Given the description of an element on the screen output the (x, y) to click on. 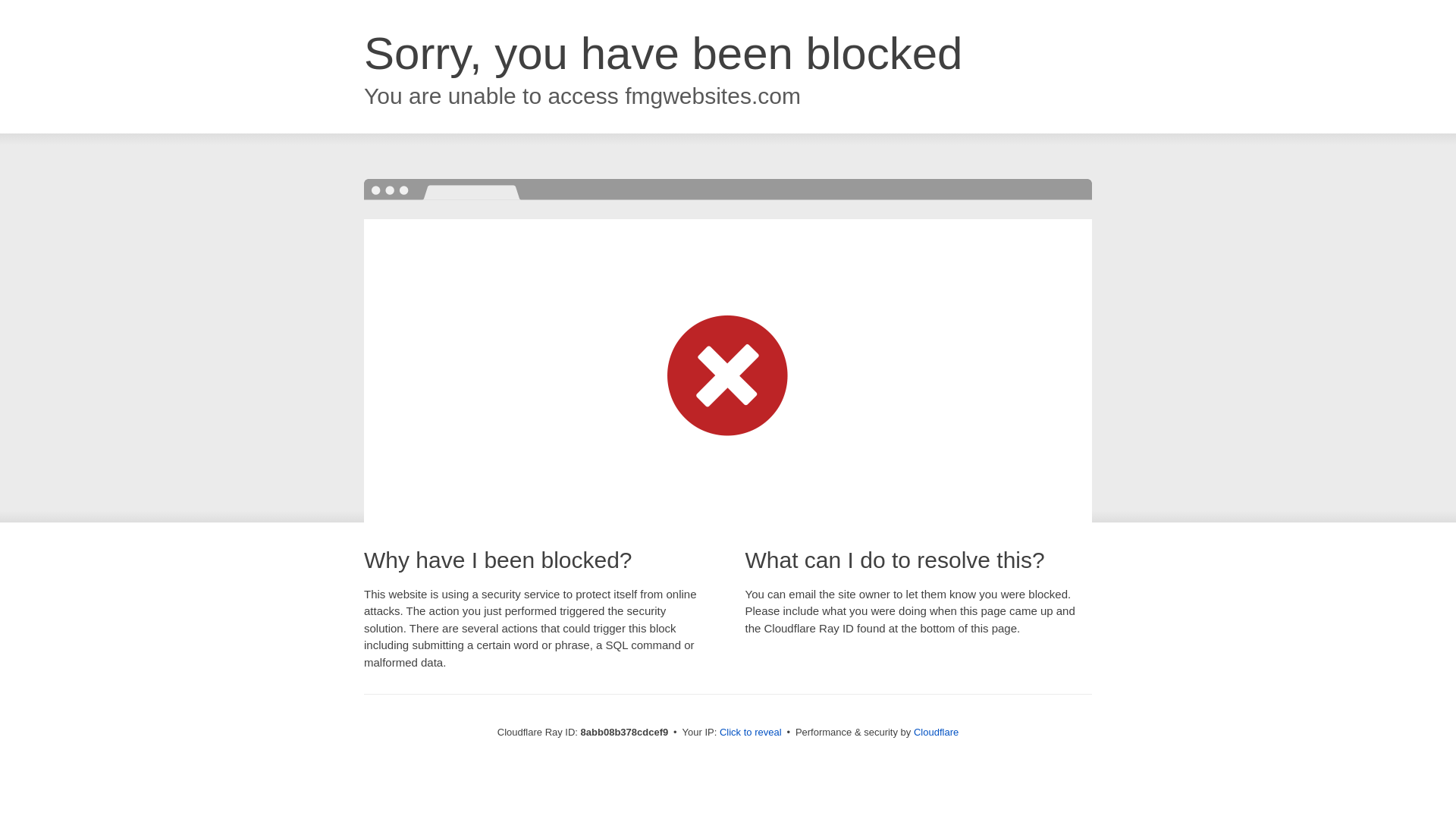
Click to reveal (750, 732)
Cloudflare (936, 731)
